Given the description of an element on the screen output the (x, y) to click on. 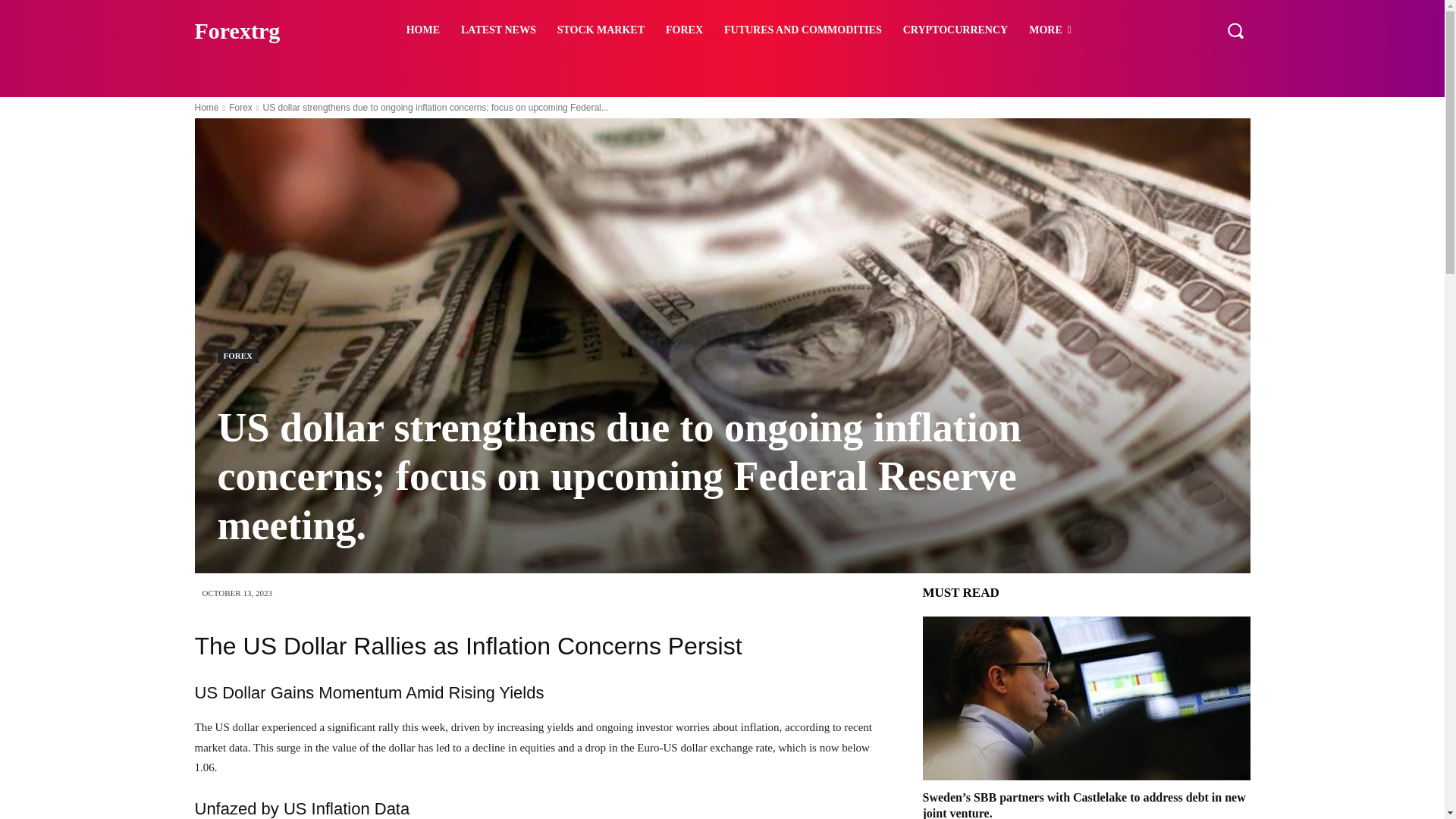
LATEST NEWS (498, 30)
Forextrg (273, 30)
Home (205, 107)
FOREX (684, 30)
CRYPTOCURRENCY (954, 30)
STOCK MARKET (601, 30)
View all posts in Forex (239, 107)
FOREX (237, 355)
Forex (239, 107)
FUTURES AND COMMODITIES (802, 30)
HOME (422, 30)
